Given the description of an element on the screen output the (x, y) to click on. 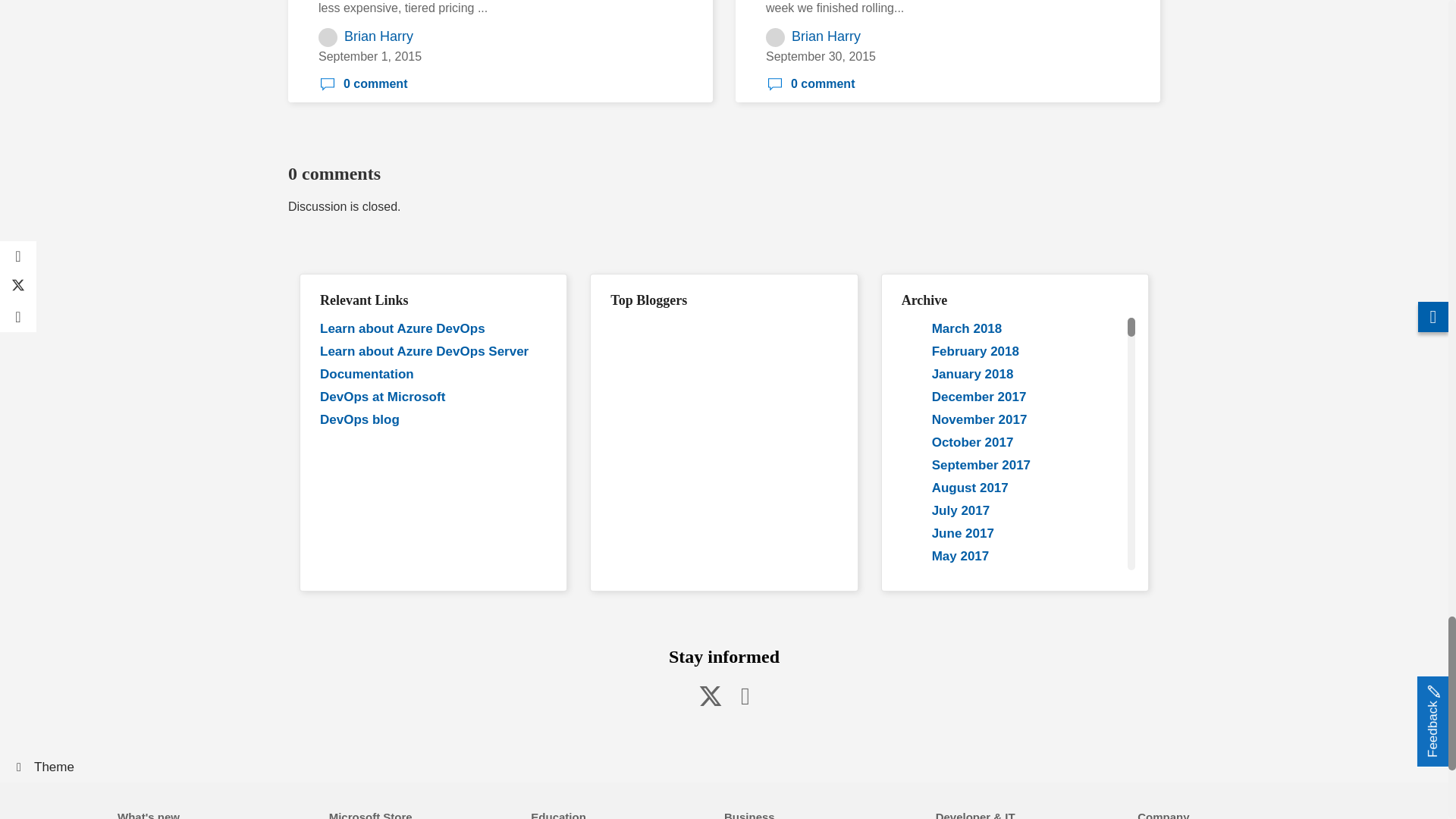
twitter (710, 695)
RSS Feed (745, 695)
